Given the description of an element on the screen output the (x, y) to click on. 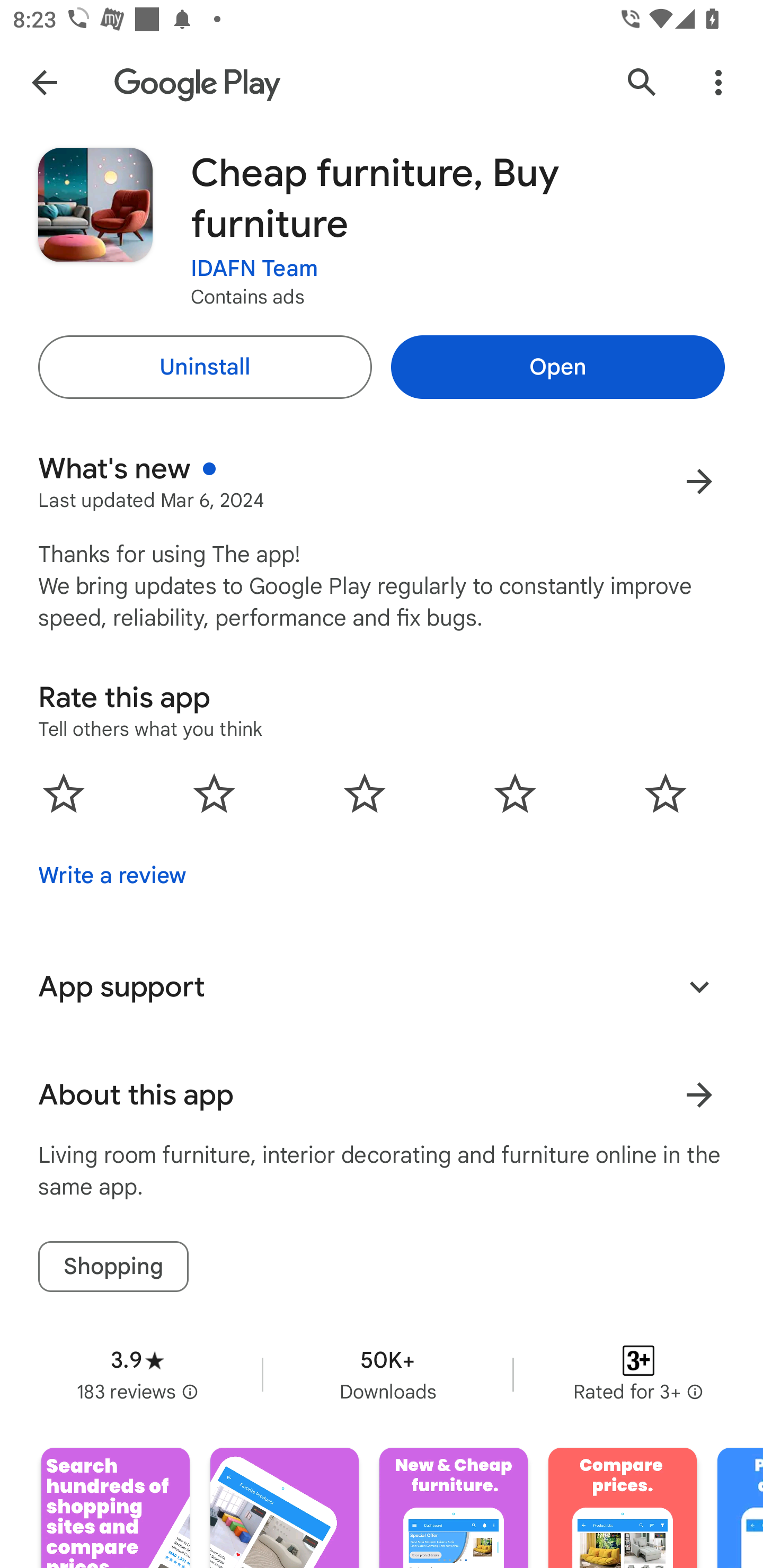
Navigate up (44, 81)
Search Google Play (642, 81)
More Options (718, 81)
IDAFN Team (254, 268)
Uninstall (205, 366)
Open (557, 366)
More results for What's new (699, 481)
0.0 (364, 792)
Write a review (112, 875)
App support Expand (381, 986)
Expand (699, 986)
About this app Learn more About this app (381, 1094)
Learn more About this app (699, 1094)
Shopping tag (113, 1265)
Average rating 3.9 stars in 183 reviews (137, 1374)
Content rating Rated for 3+ (638, 1374)
Screenshot "1" of "7" (115, 1507)
Screenshot "2" of "7" (284, 1507)
Screenshot "3" of "7" (453, 1507)
Screenshot "4" of "7" (622, 1507)
